Given the description of an element on the screen output the (x, y) to click on. 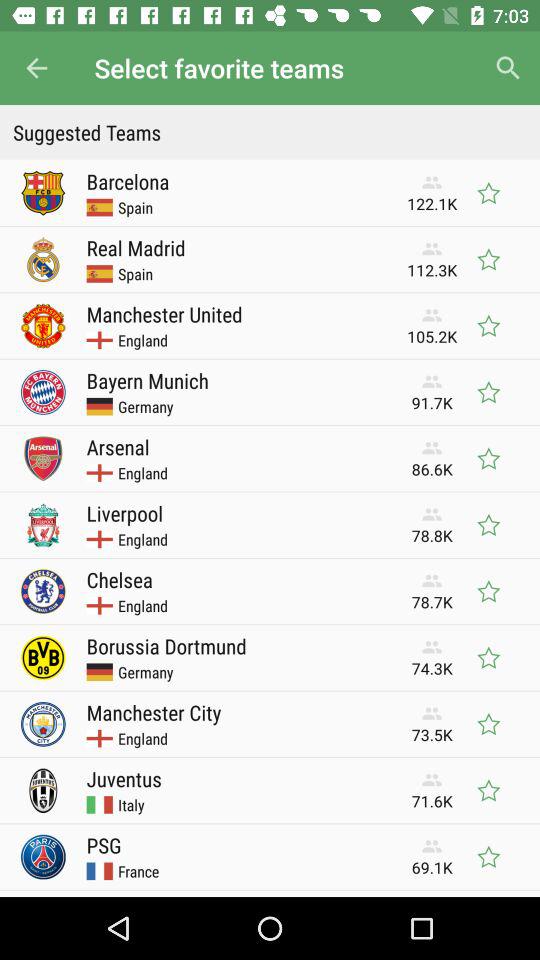
click icon next to 78.8k icon (124, 513)
